Given the description of an element on the screen output the (x, y) to click on. 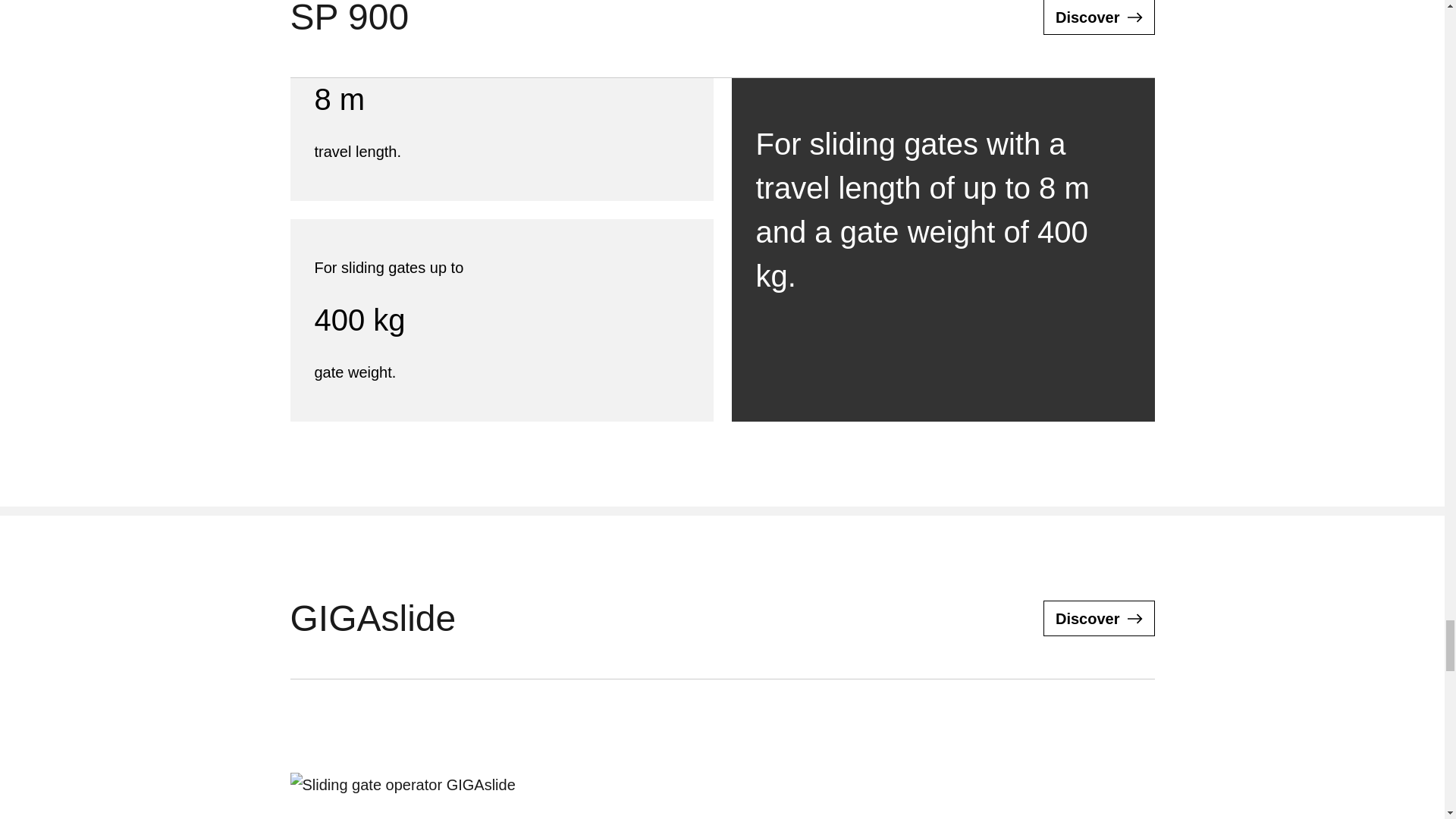
GIGAslide (1098, 618)
